Given the description of an element on the screen output the (x, y) to click on. 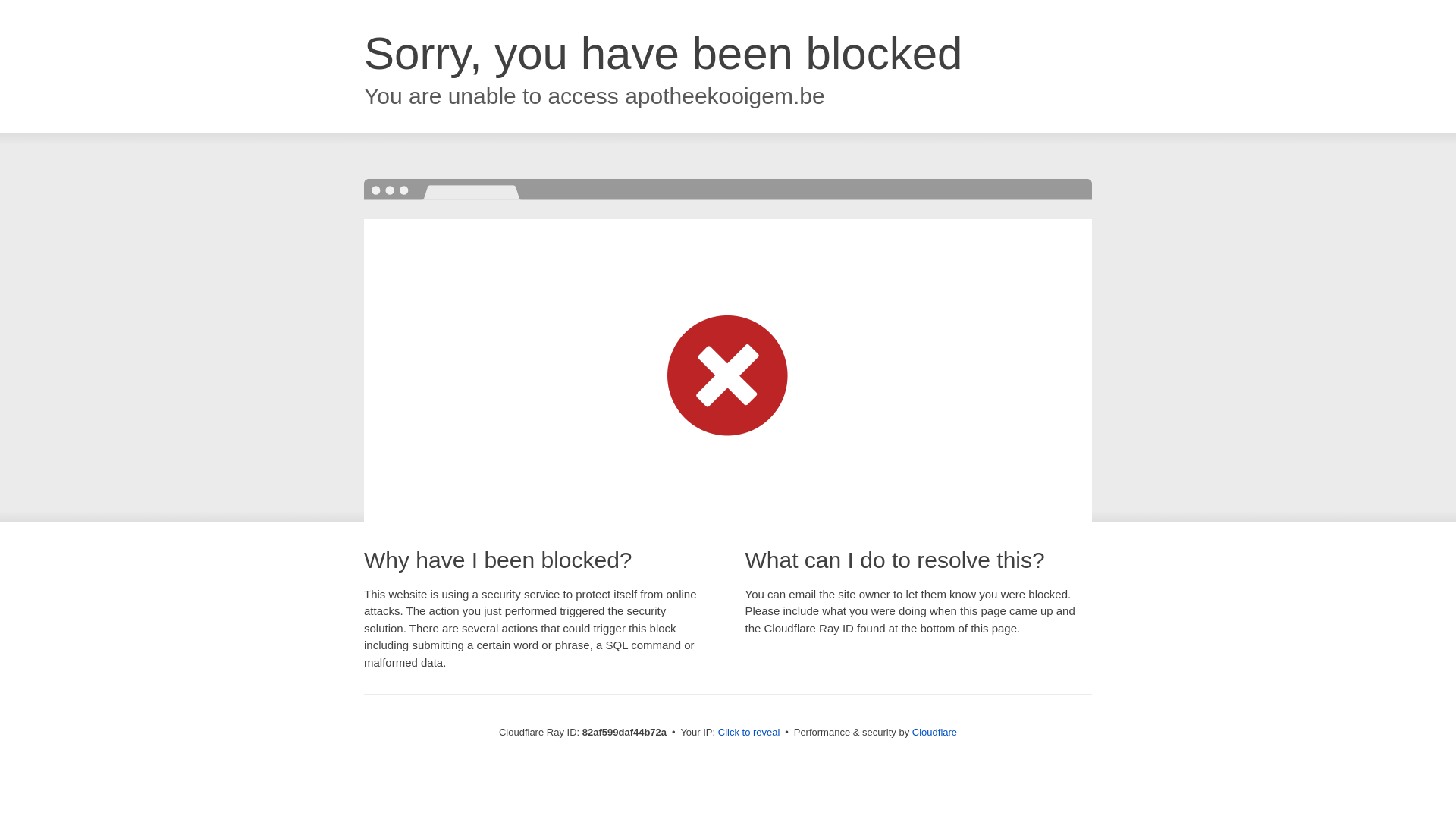
Cloudflare Element type: text (934, 731)
Click to reveal Element type: text (749, 732)
